Given the description of an element on the screen output the (x, y) to click on. 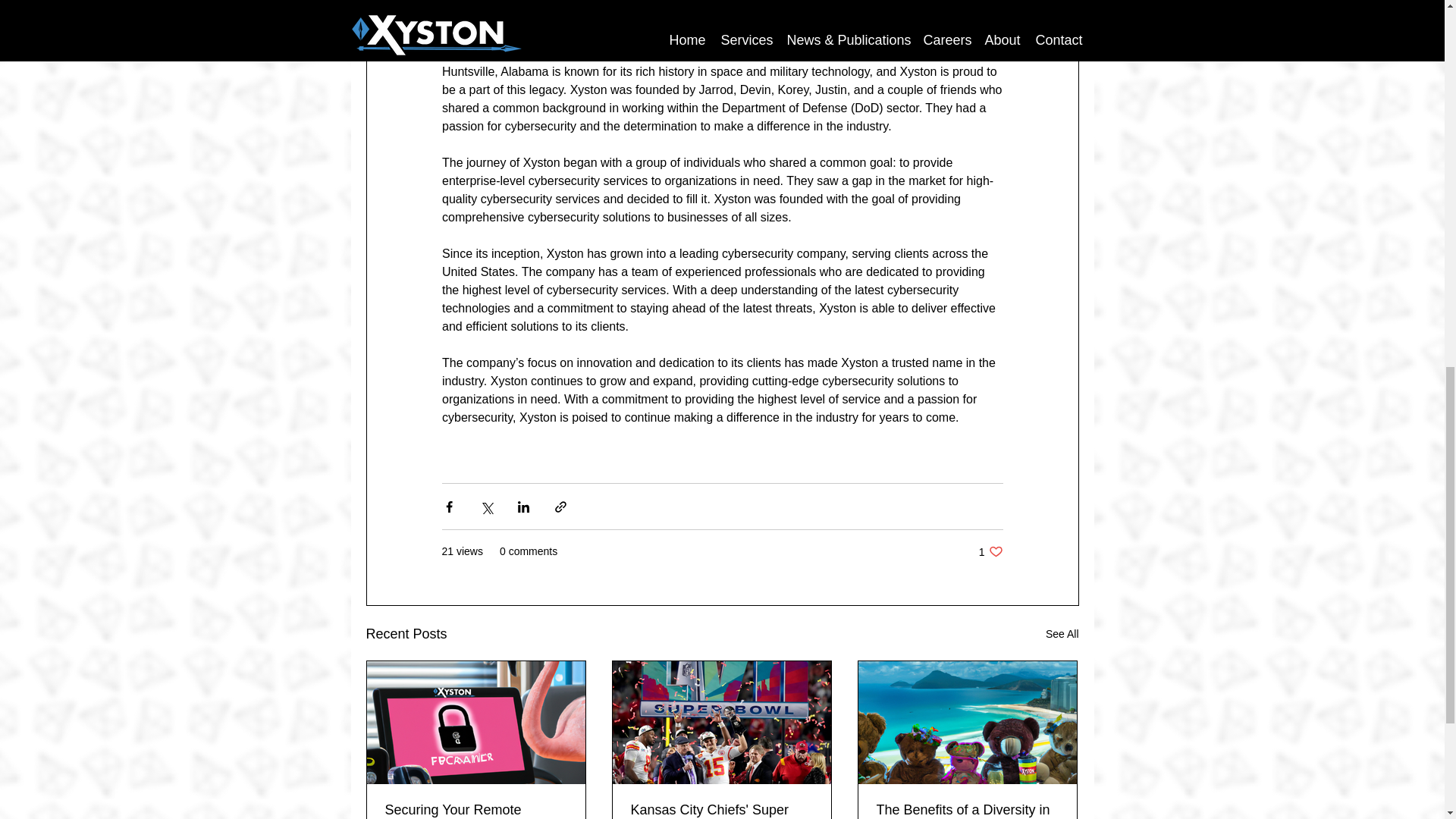
See All (990, 551)
